Given the description of an element on the screen output the (x, y) to click on. 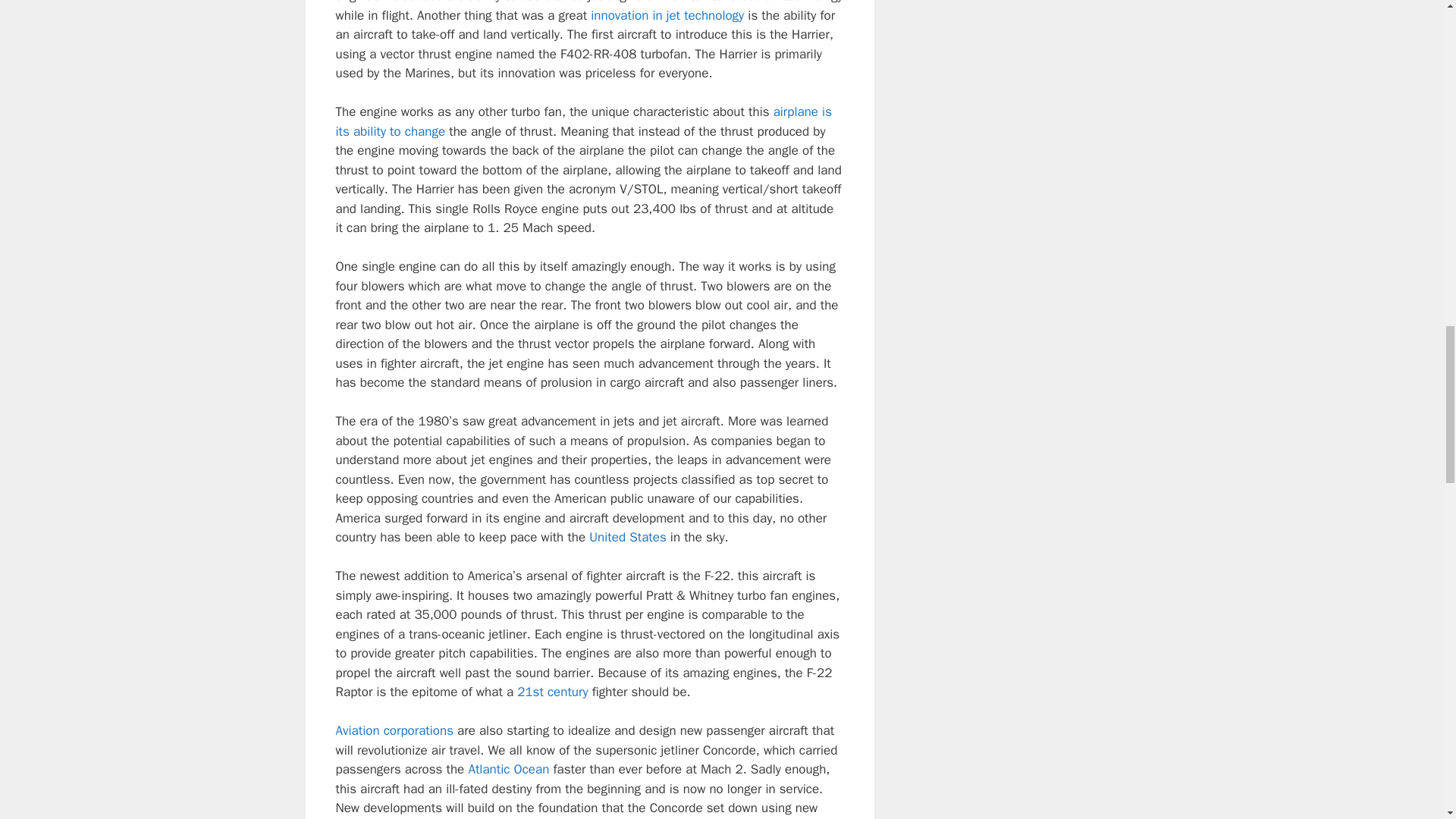
Aviation corporations (393, 730)
innovation in jet technology (667, 15)
Atlantic Ocean (507, 769)
21st century (552, 691)
airplane is its ability to change (582, 121)
United States (627, 537)
